Given the description of an element on the screen output the (x, y) to click on. 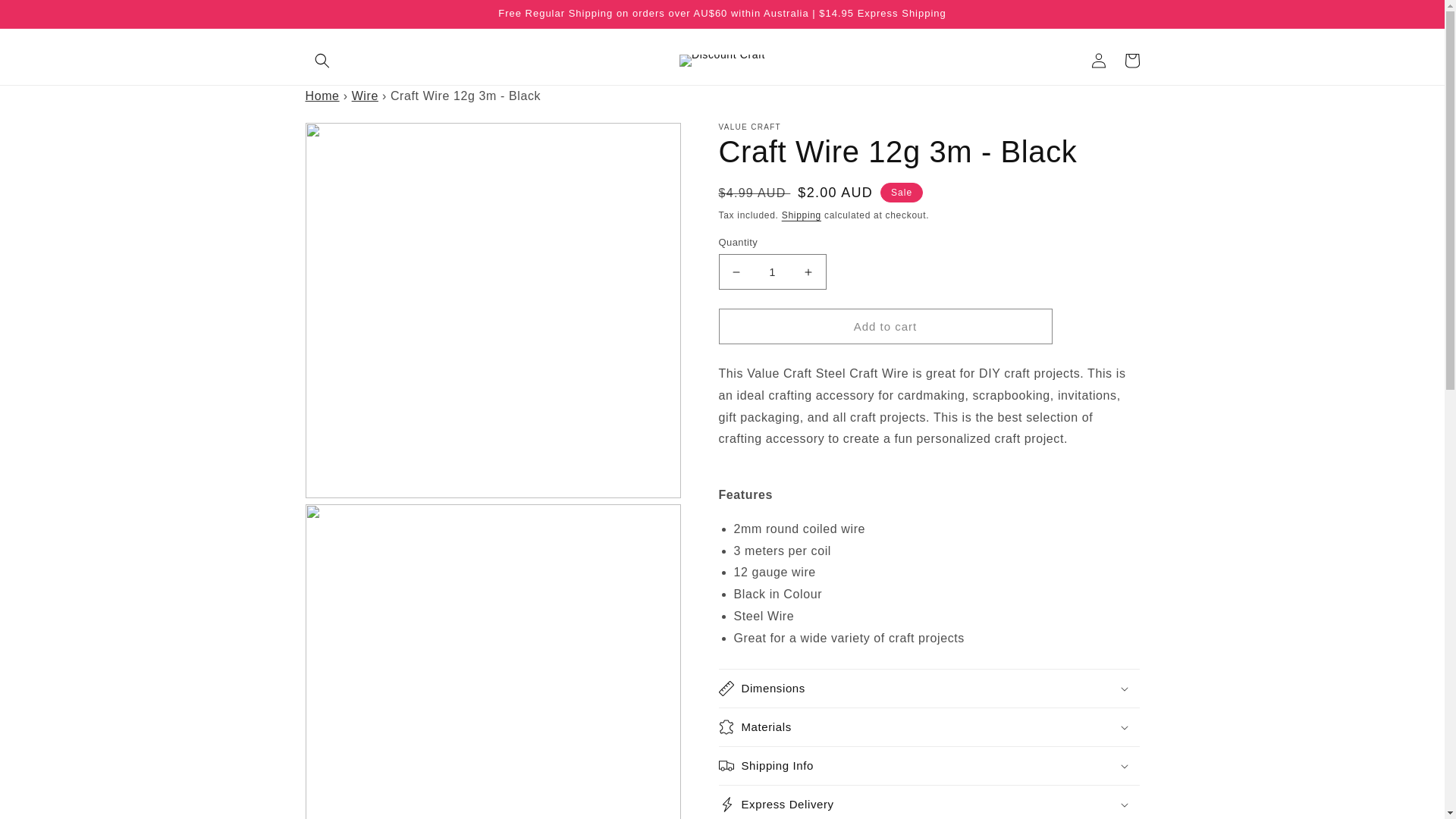
Decrease quantity for Craft Wire 12g 3m - Black (735, 271)
Home (321, 95)
Skip to product information (350, 140)
1 (773, 271)
Add to cart (885, 325)
Log in (1098, 60)
Shipping (801, 214)
Wire (365, 95)
Home (321, 95)
Increase quantity for Craft Wire 12g 3m - Black (808, 271)
Skip to content (45, 17)
Cart (1131, 60)
